Given the description of an element on the screen output the (x, y) to click on. 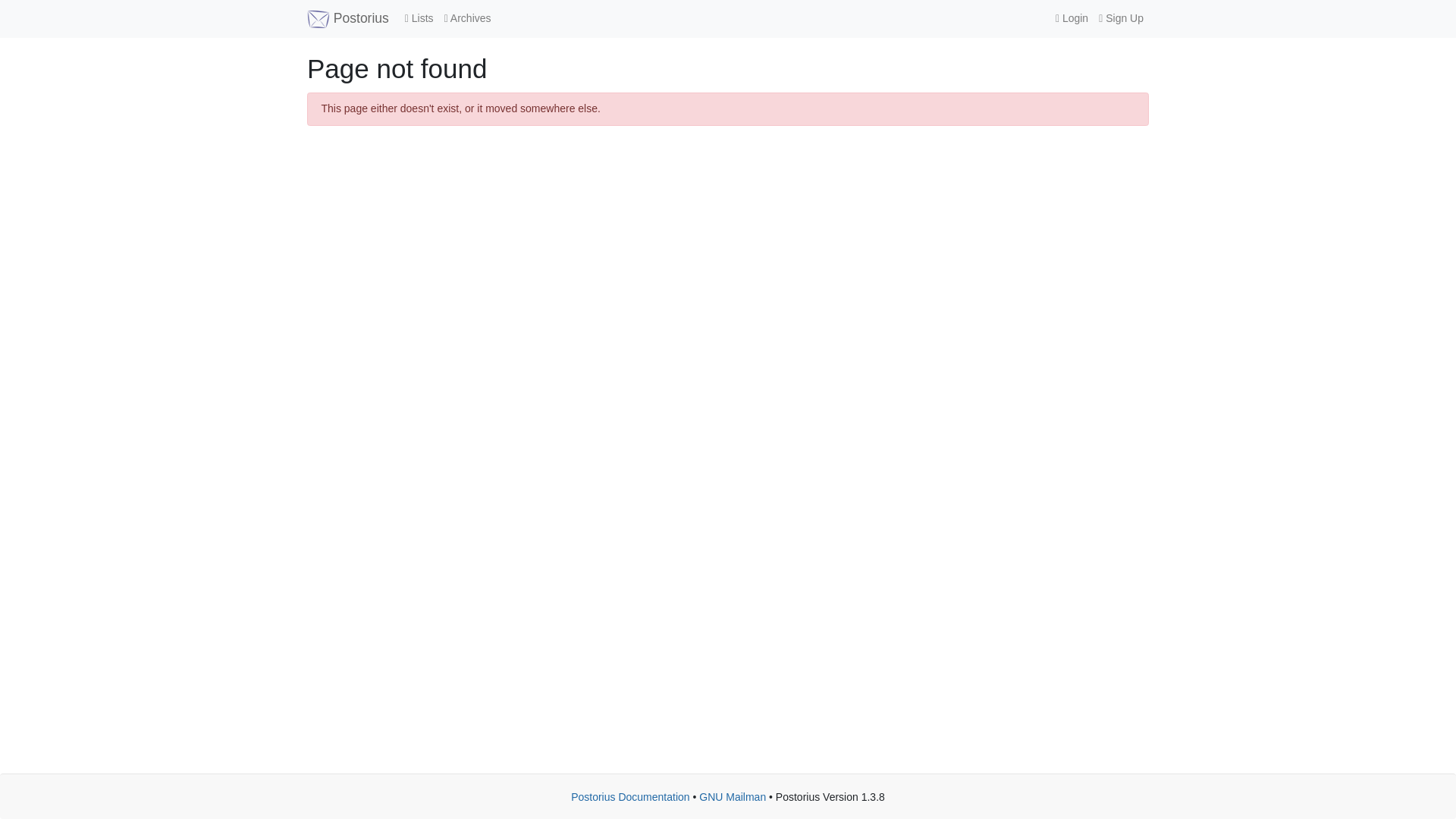
Lists (418, 17)
Postorius (347, 18)
Sign Up (1120, 17)
Login (1071, 17)
Archives (467, 17)
